Given the description of an element on the screen output the (x, y) to click on. 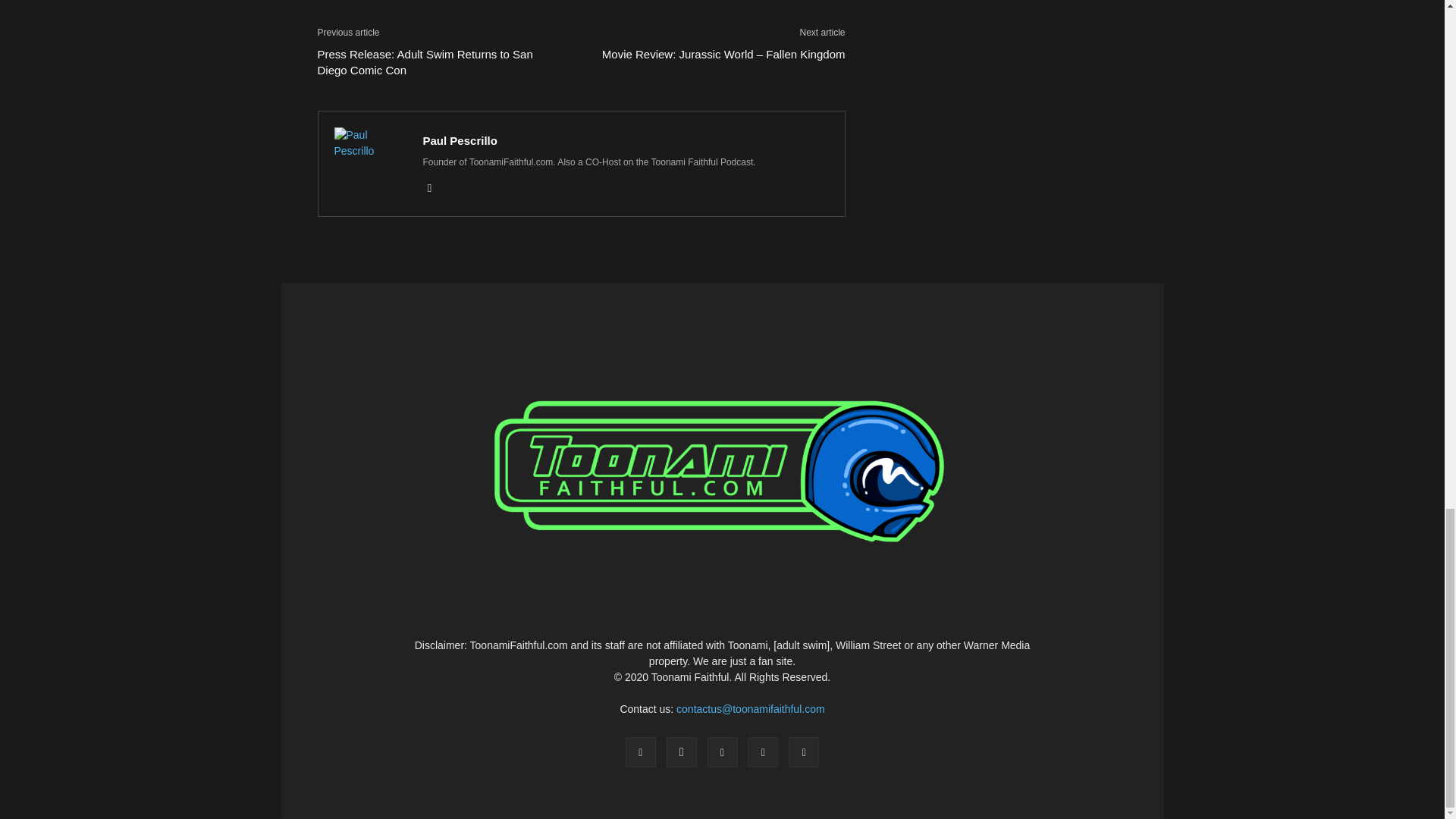
bottomFacebookLike (430, 12)
Instagram (435, 188)
